Given the description of an element on the screen output the (x, y) to click on. 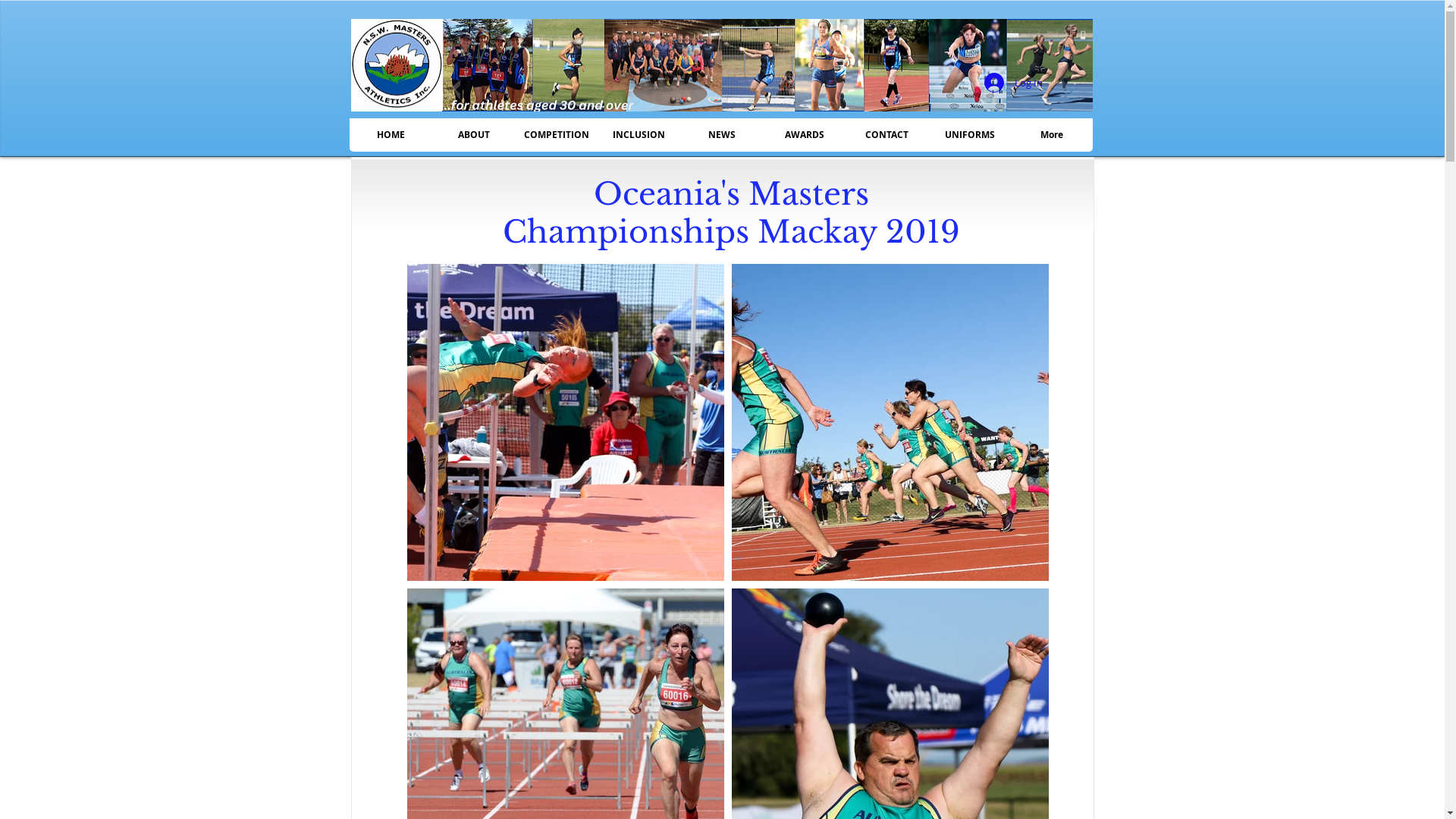
Log In Element type: text (1013, 82)
AWARDS Element type: text (803, 134)
INCLUSION Element type: text (638, 134)
CONTACT Element type: text (885, 134)
HOME Element type: text (389, 134)
NEWS Element type: text (720, 134)
UNIFORMS Element type: text (969, 134)
ABOUT Element type: text (473, 134)
COMPETITION Element type: text (555, 134)
